Given the description of an element on the screen output the (x, y) to click on. 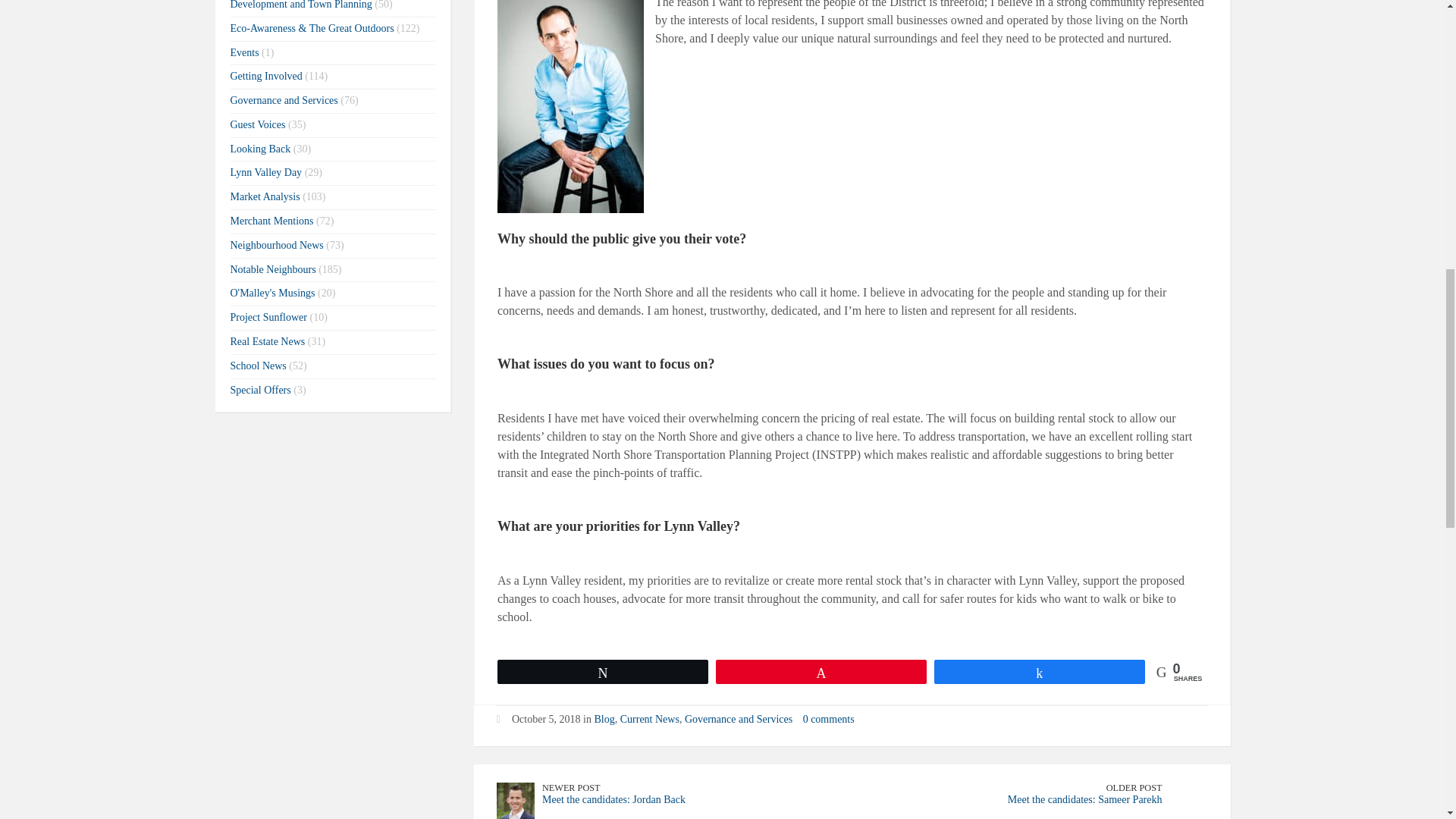
0 comments (828, 718)
Governance and Services (738, 718)
Current News (649, 718)
Blog (604, 718)
